Given the description of an element on the screen output the (x, y) to click on. 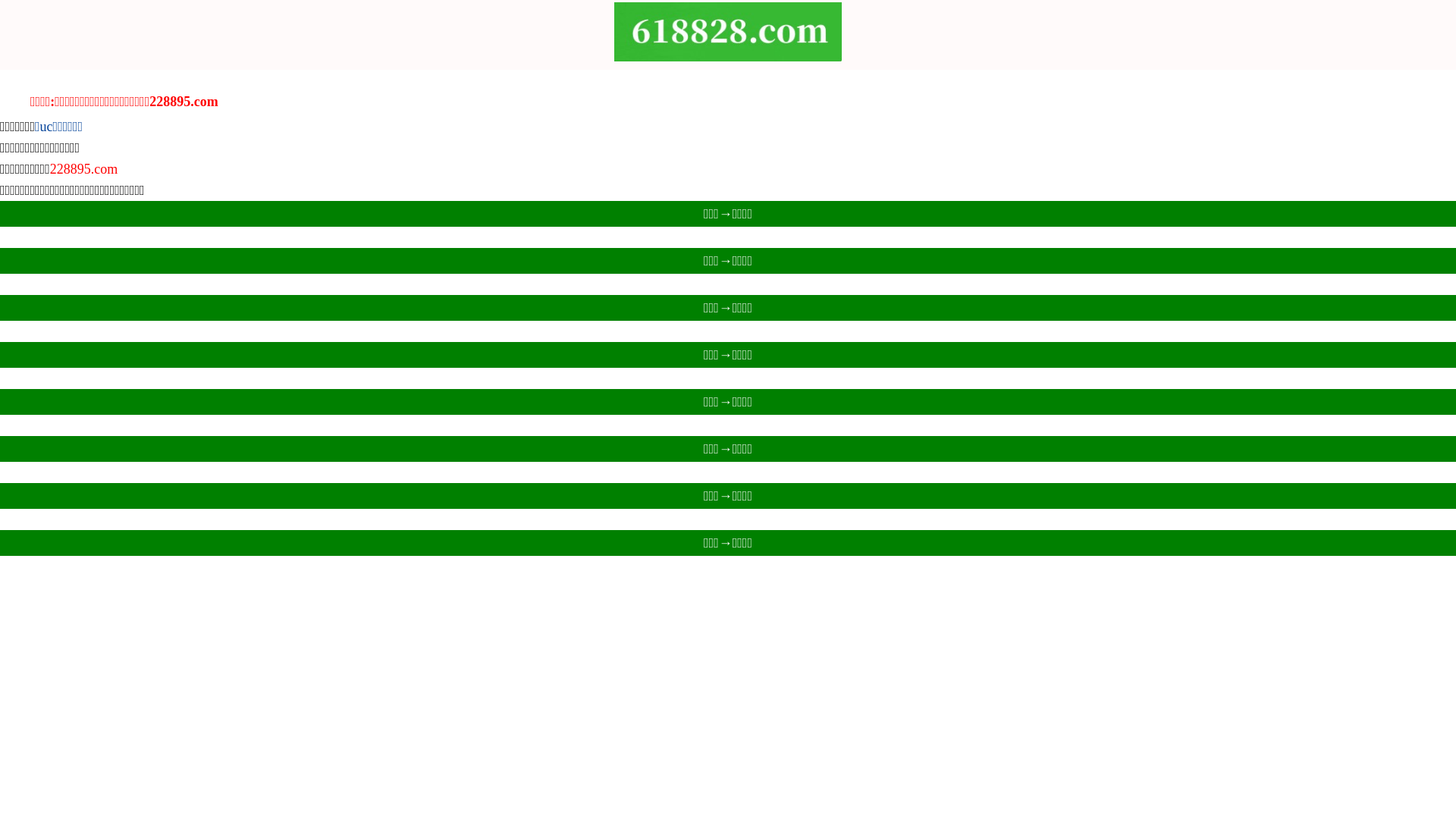
228895.com Element type: text (84, 168)
